Given the description of an element on the screen output the (x, y) to click on. 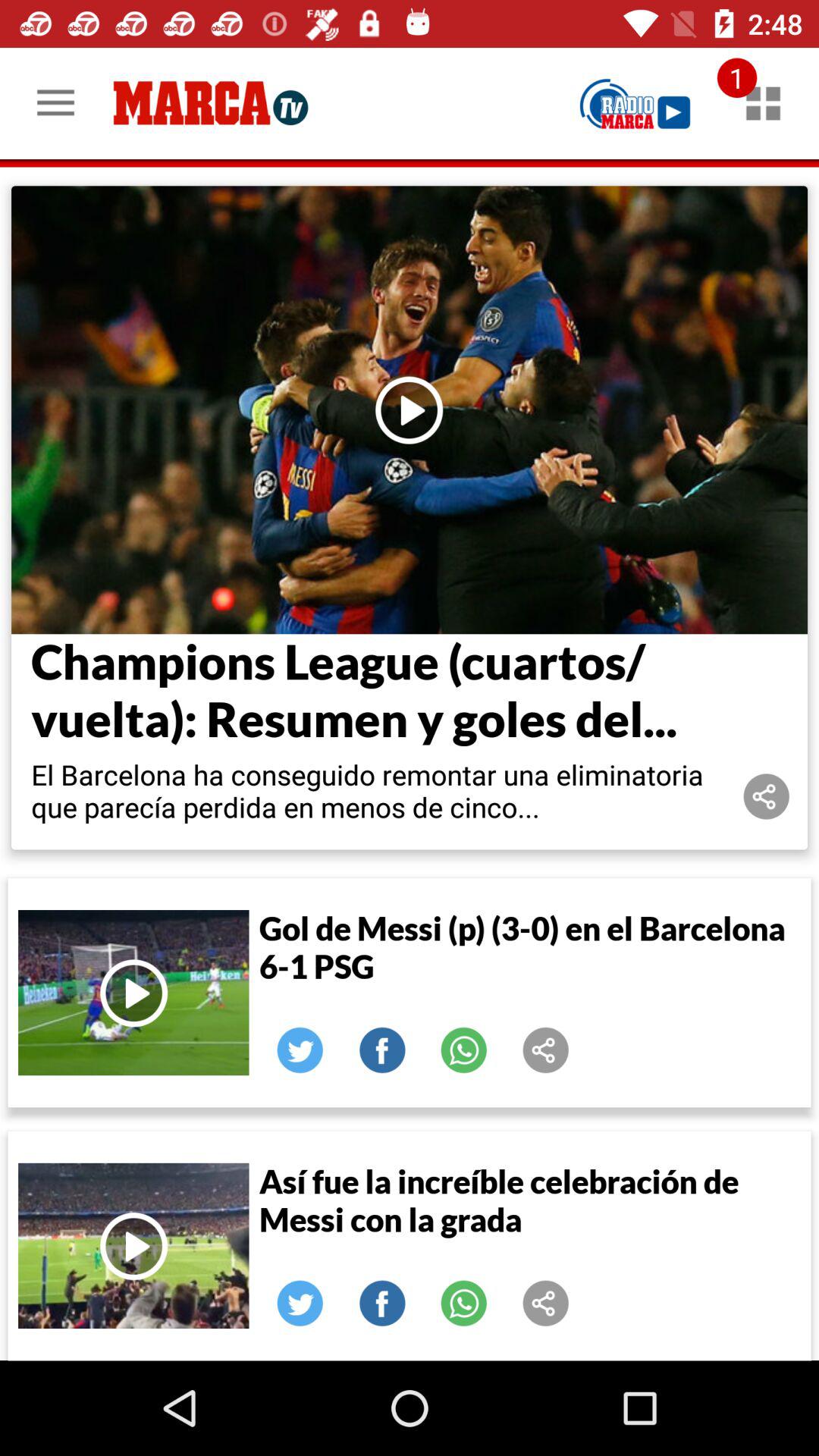
open related videos (763, 103)
